Given the description of an element on the screen output the (x, y) to click on. 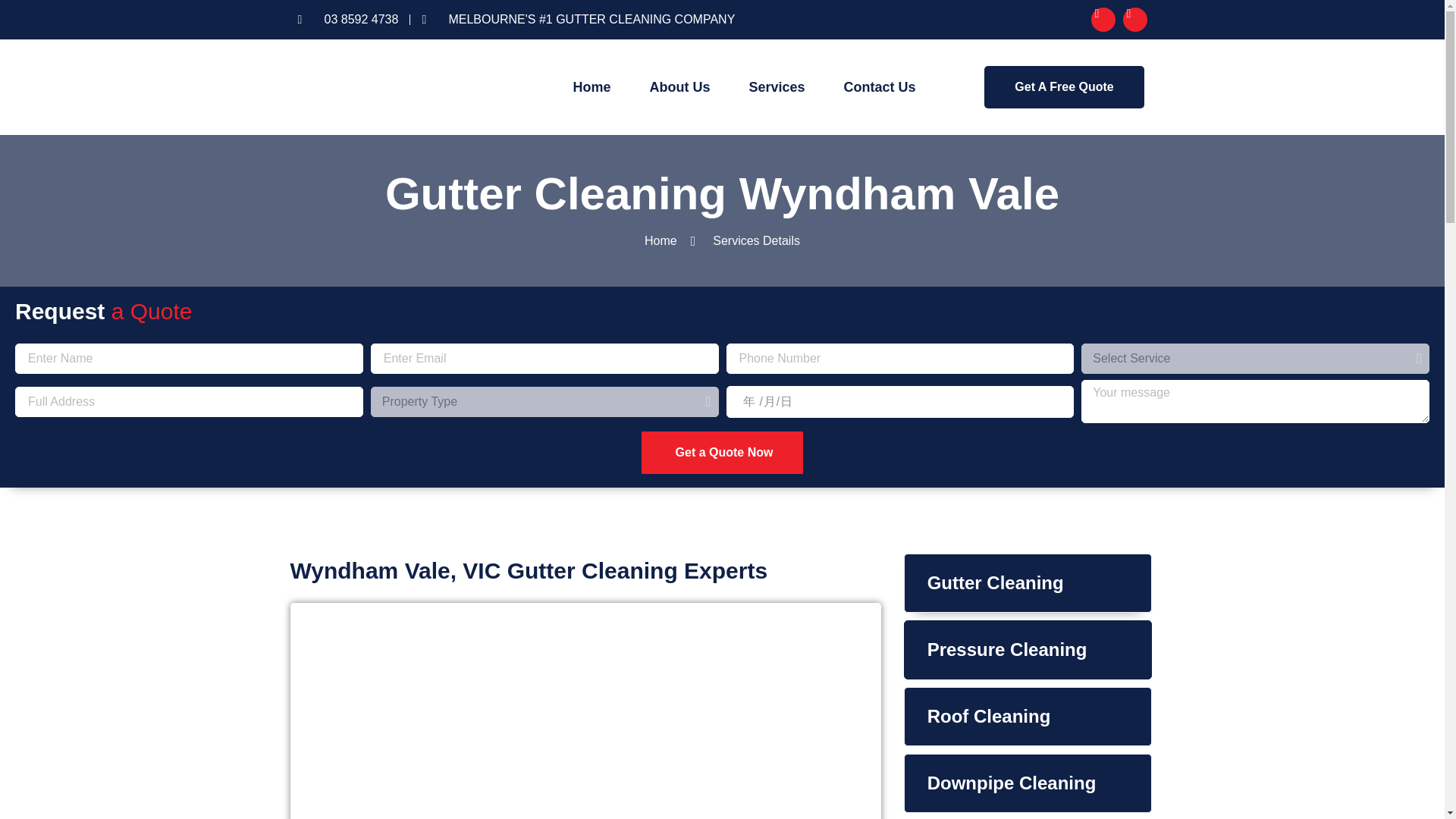
Home (591, 86)
Contact Us (879, 86)
Services (776, 86)
03 8592 4738 (347, 19)
Get A Free Quote (1063, 87)
About Us (679, 86)
